Given the description of an element on the screen output the (x, y) to click on. 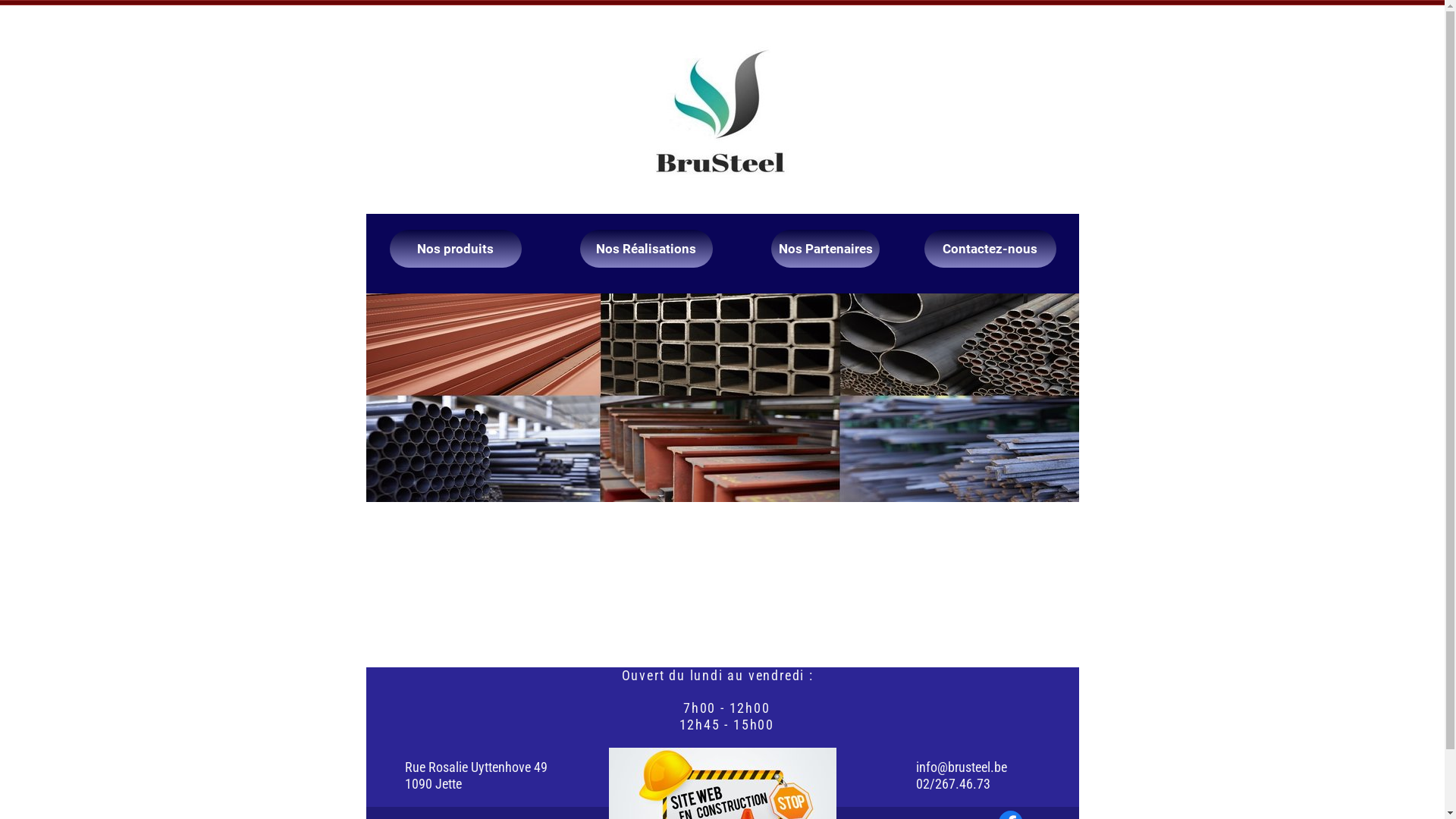
Contactez-nous Element type: text (989, 248)
Nos produits Element type: text (455, 248)
Nos Partenaires Element type: text (824, 248)
